Given the description of an element on the screen output the (x, y) to click on. 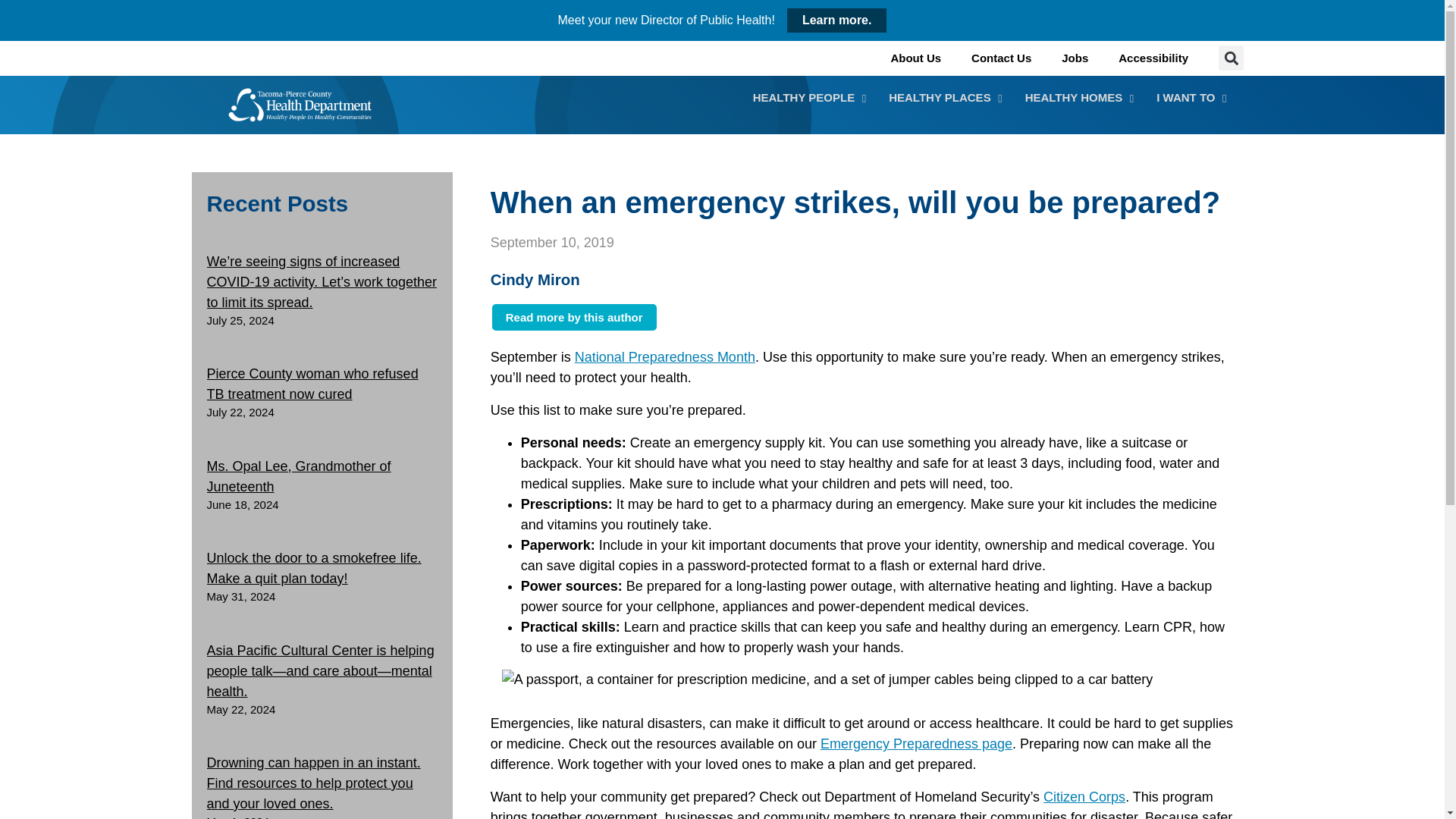
Learn more. (821, 97)
